Given the description of an element on the screen output the (x, y) to click on. 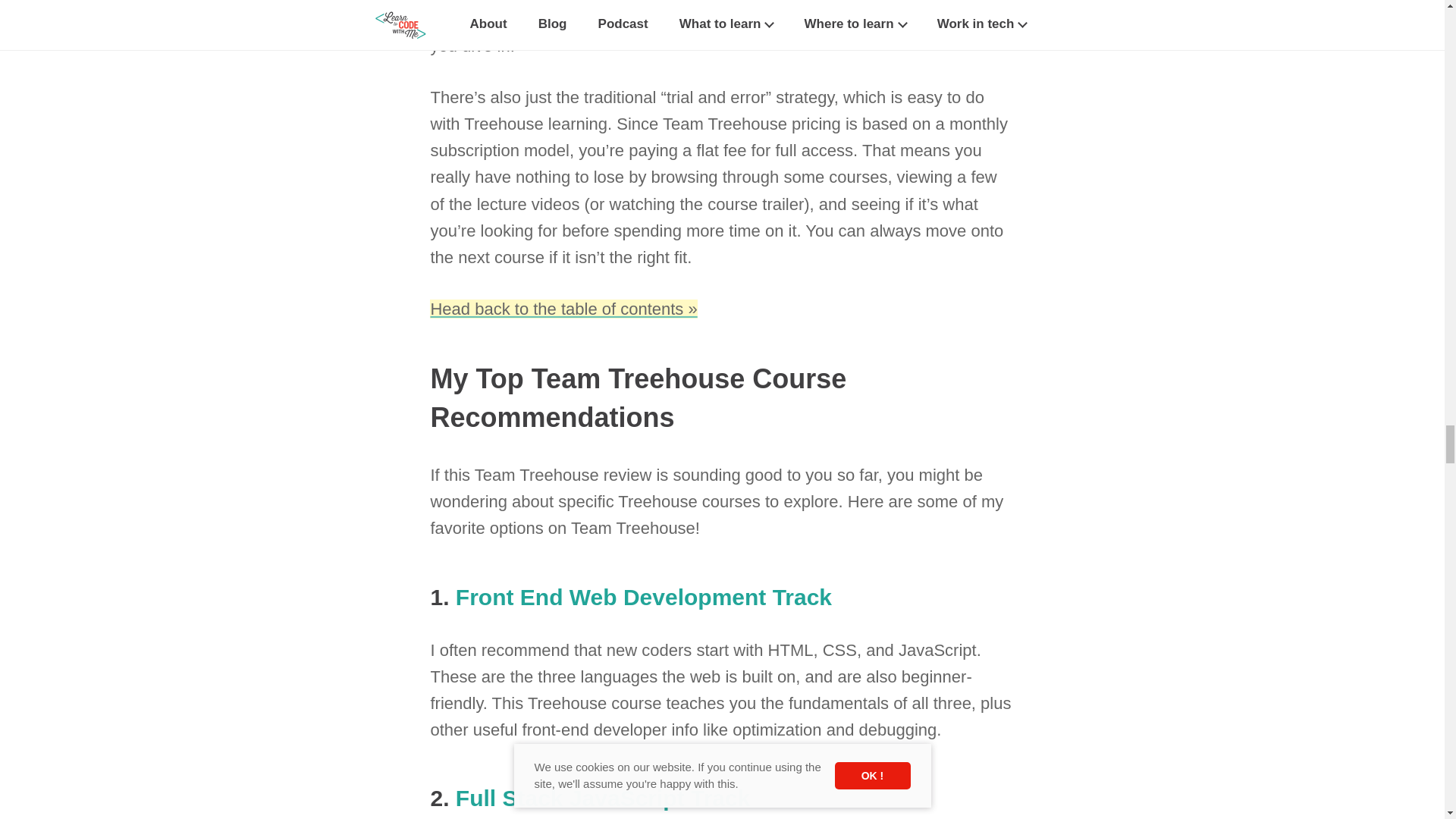
Team Treehouse - Full Stack Javascript Track (603, 797)
Team Treehouse - Front End Web Development Track (643, 596)
